Given the description of an element on the screen output the (x, y) to click on. 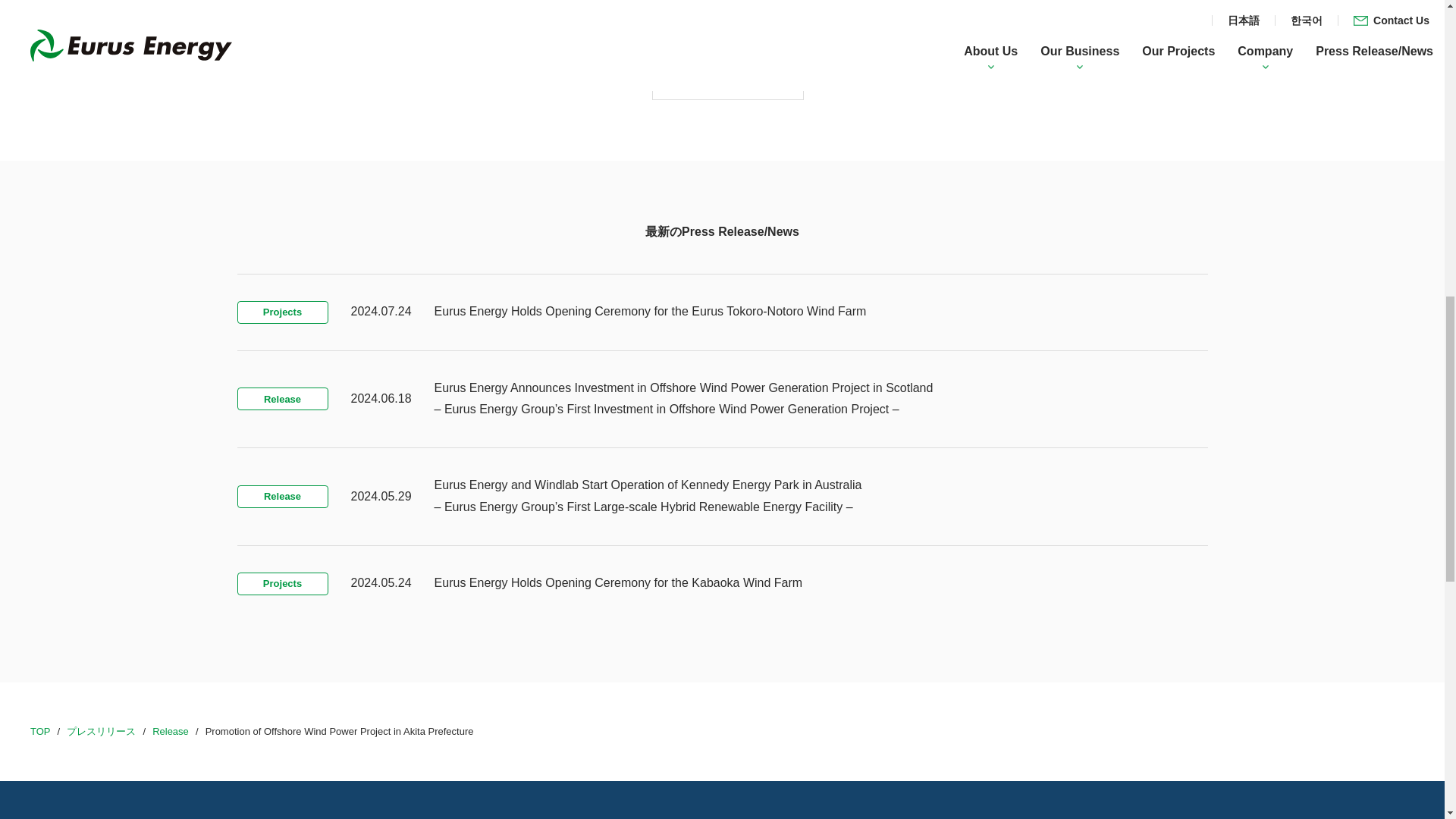
Return (727, 80)
Next article (855, 80)
TOP (40, 731)
Previous article (593, 80)
Release (170, 731)
